Given the description of an element on the screen output the (x, y) to click on. 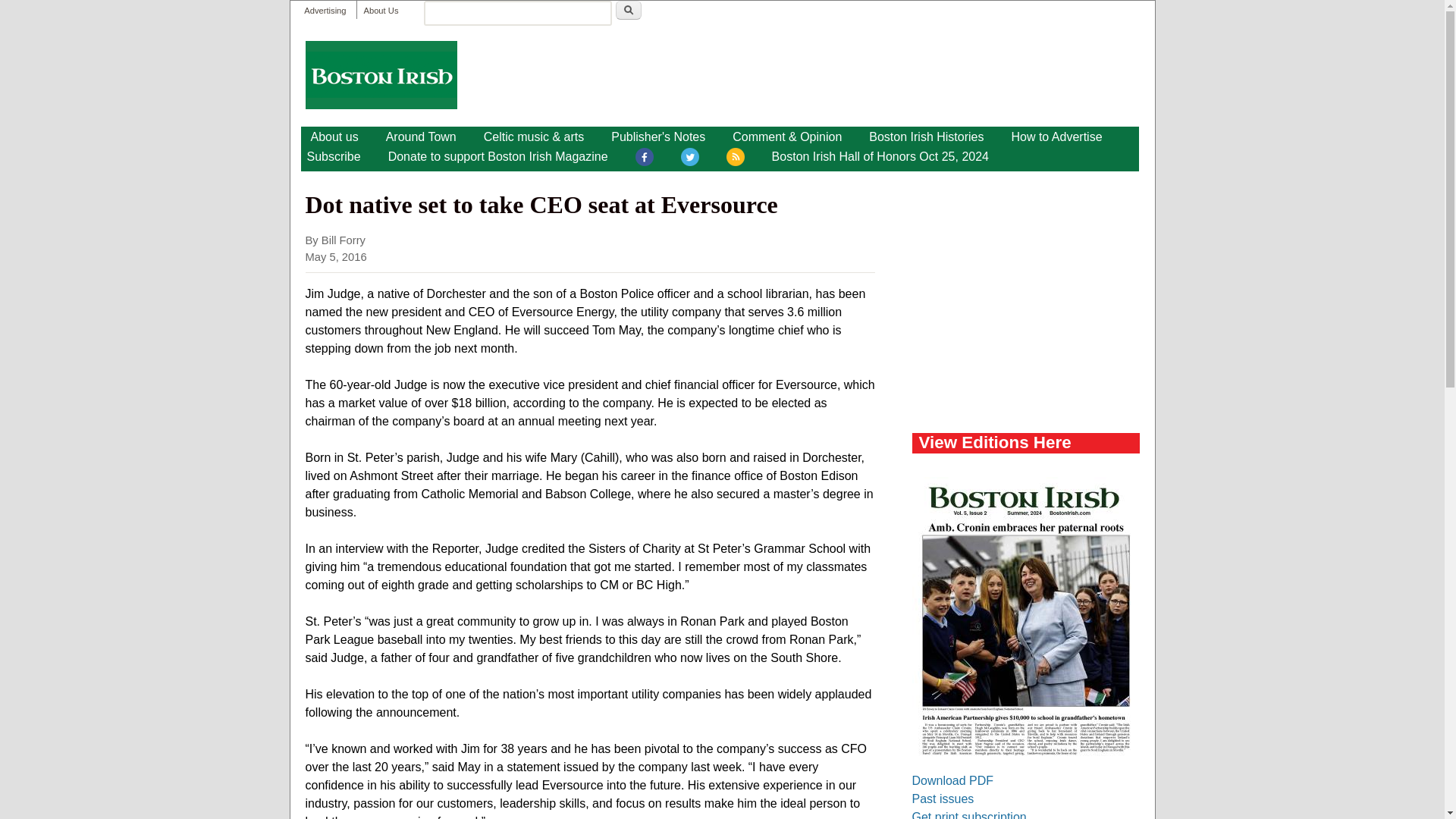
Boston Irish Reporter on Twitter (689, 159)
Around Town (421, 136)
Search (628, 9)
Advertising (324, 10)
Search (628, 9)
Get print subscription (968, 814)
Boston Irish Histories (926, 136)
Subscribe (332, 157)
Donate to support Boston Irish Magazine (497, 157)
About Us (379, 10)
About Boston Irish (334, 136)
How to Advertise (1056, 136)
Boston Irish Reporter RSS feed (735, 159)
Boston Irish Hall of Honors Oct 25, 2024 (879, 157)
How to advertise with Boston Irish (1056, 136)
